Given the description of an element on the screen output the (x, y) to click on. 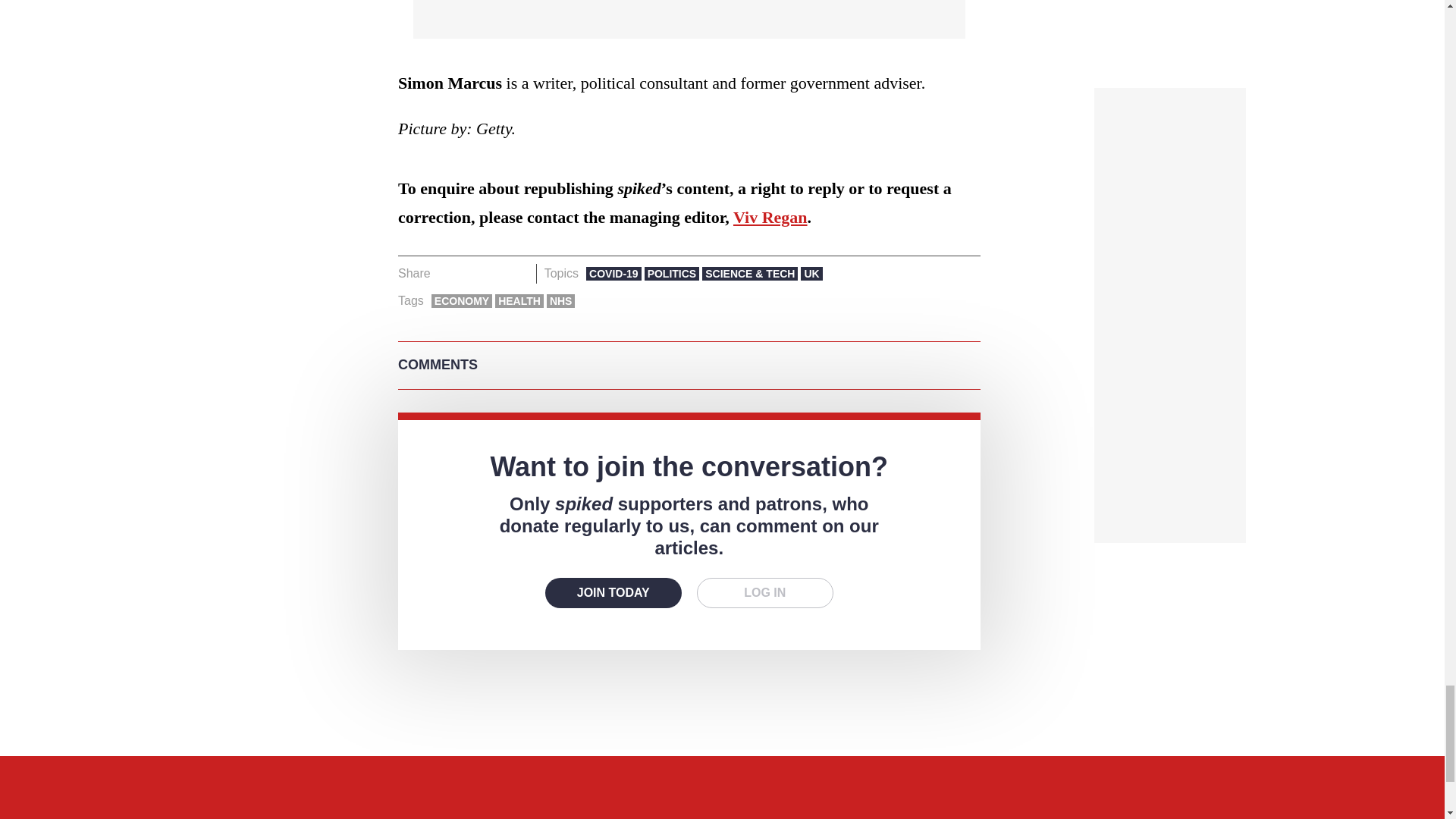
Share on Whatsapp (494, 273)
Share on Facebook (448, 273)
Share on Email (518, 273)
Share on Twitter (471, 273)
